Given the description of an element on the screen output the (x, y) to click on. 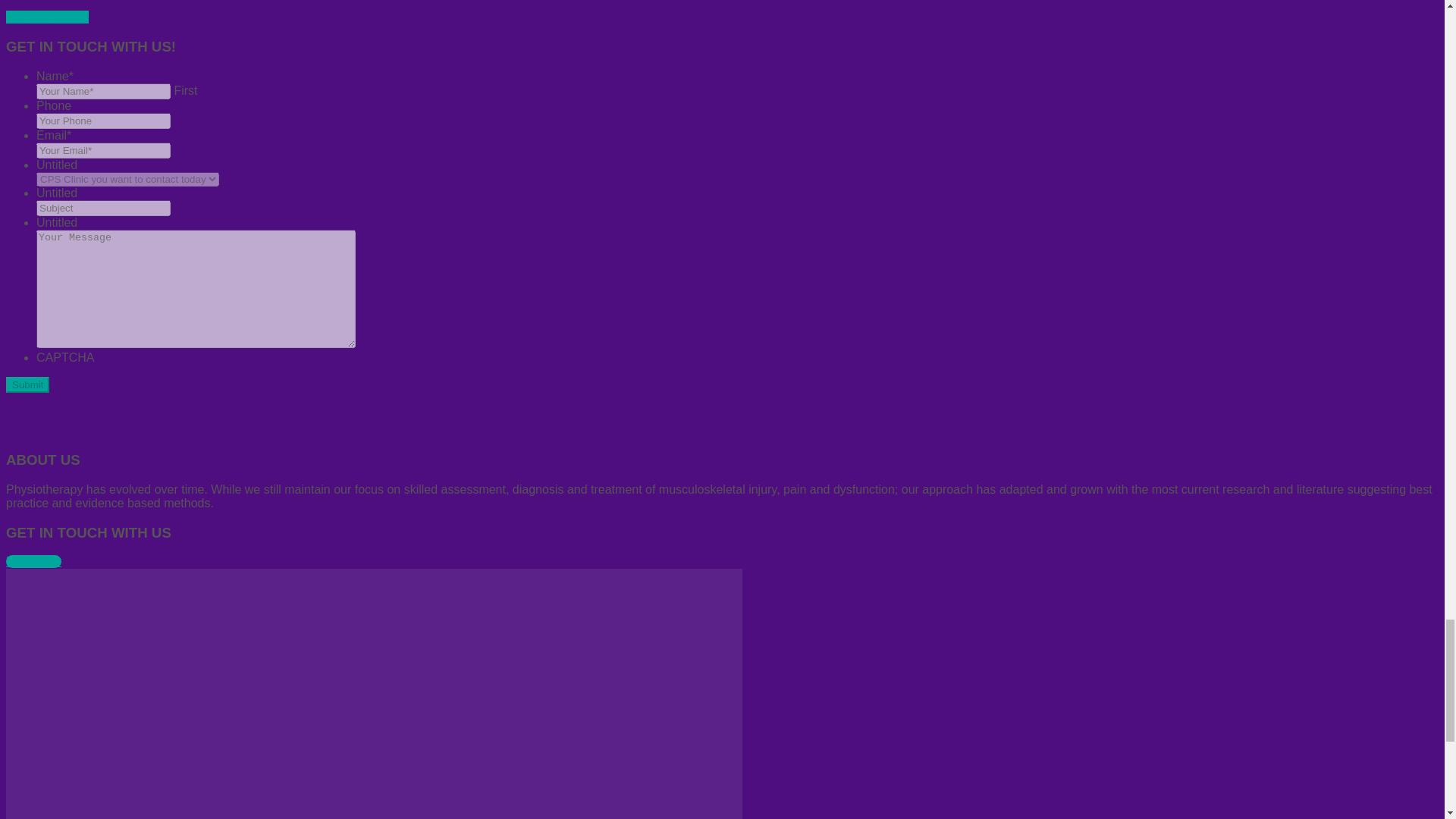
Submit (27, 383)
Submit (27, 383)
